Given the description of an element on the screen output the (x, y) to click on. 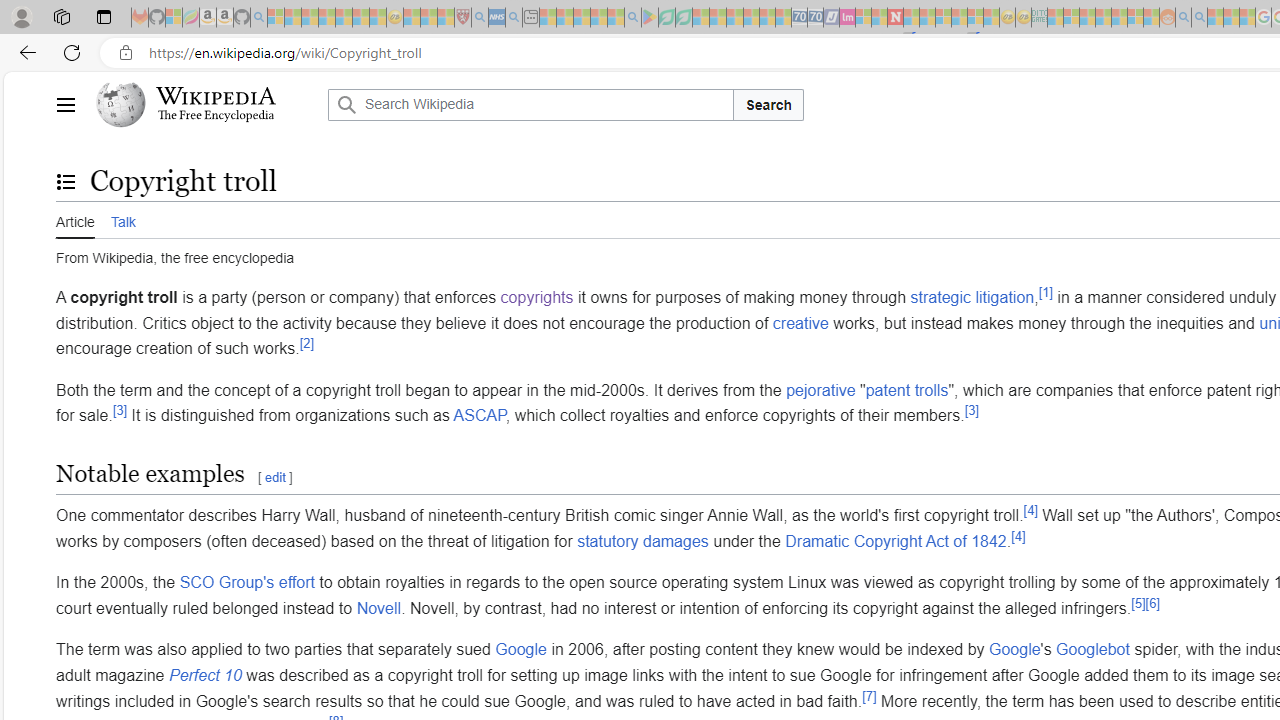
copyrights (536, 297)
Article (75, 219)
Googlebot (1093, 649)
